Given the description of an element on the screen output the (x, y) to click on. 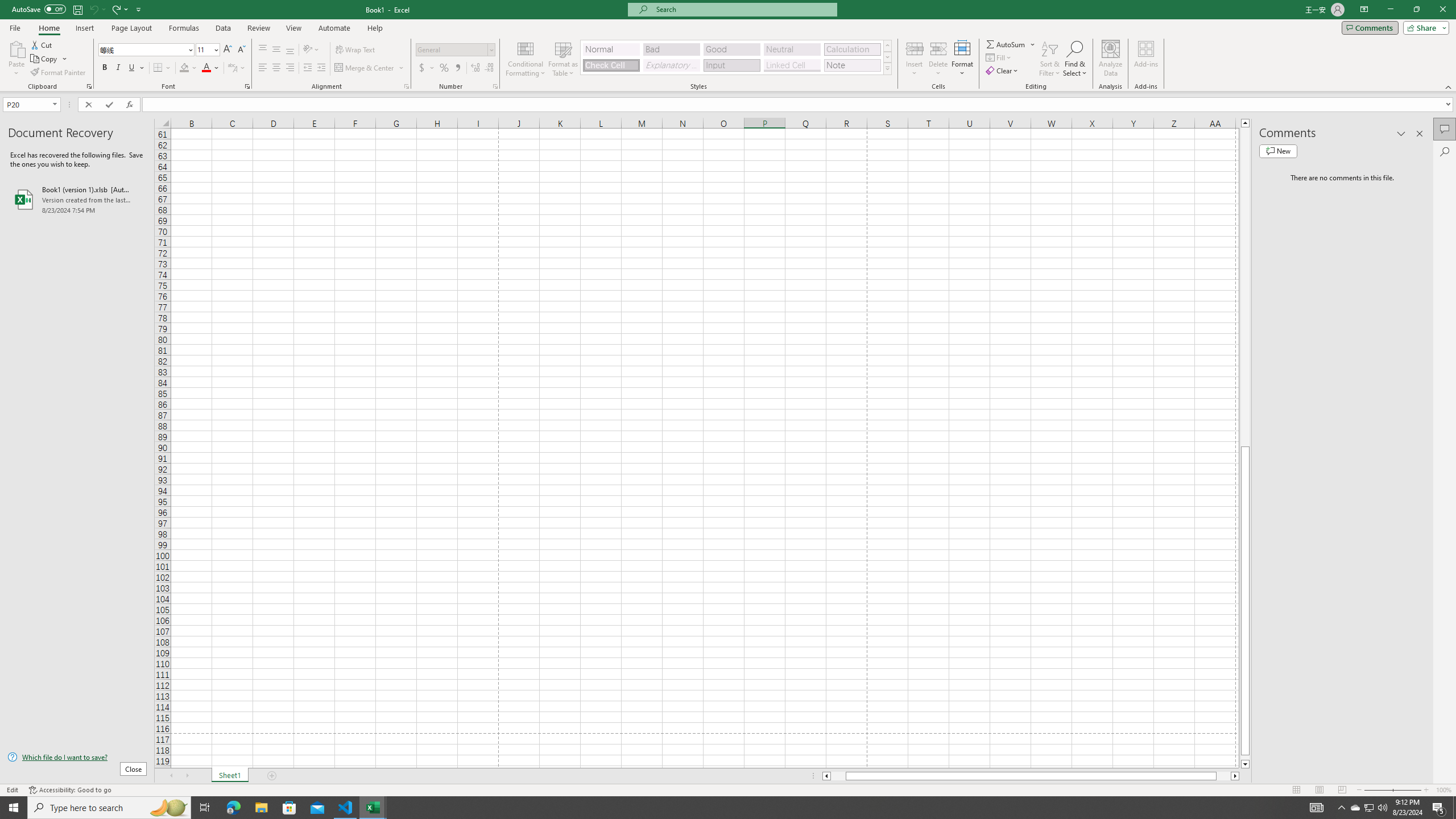
Show Phonetic Field (231, 67)
Copy (49, 58)
Font Color RGB(255, 0, 0) (206, 67)
Decrease Decimal (489, 67)
